Given the description of an element on the screen output the (x, y) to click on. 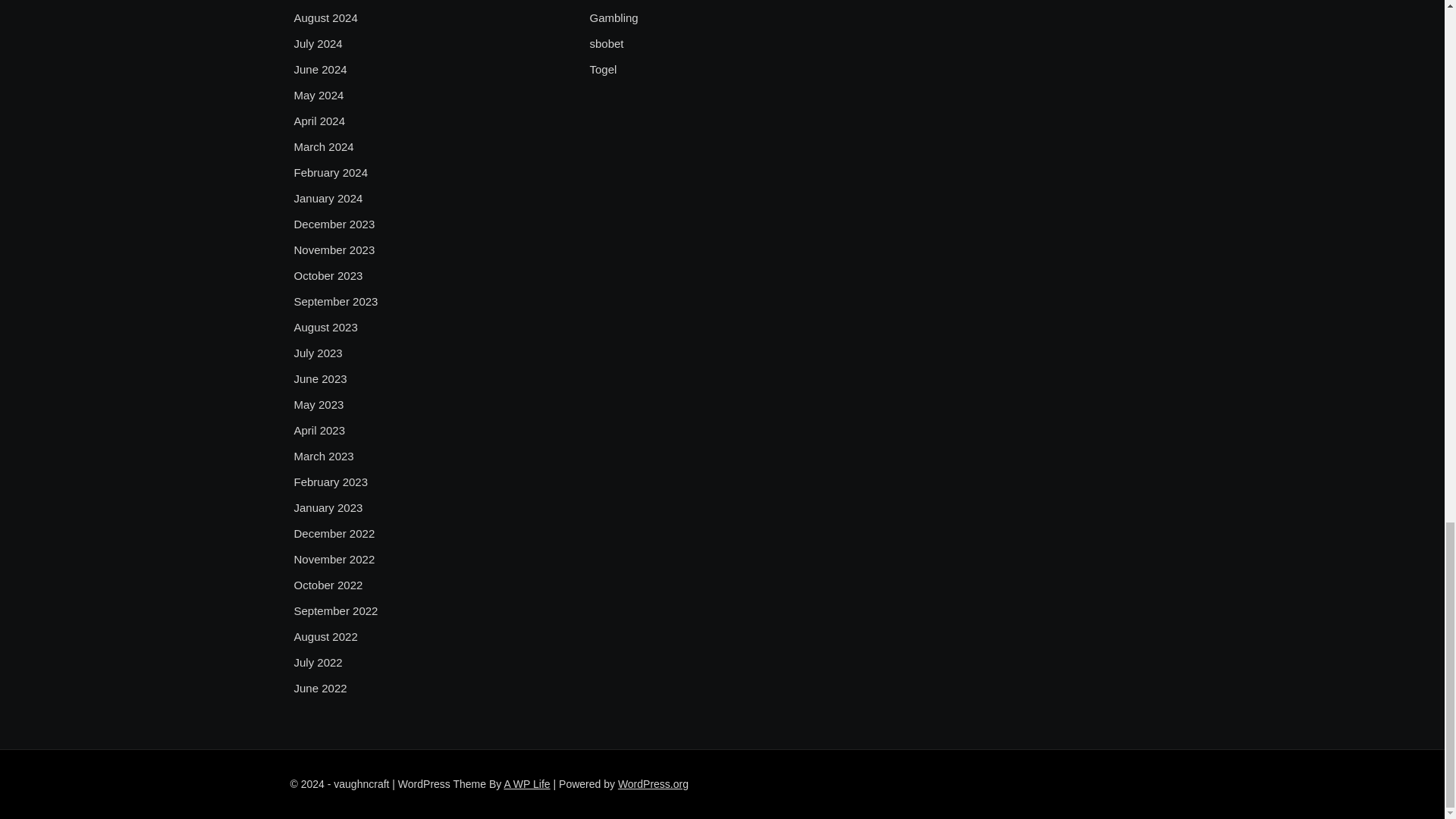
March 2024 (323, 147)
January 2023 (328, 507)
November 2023 (334, 249)
January 2024 (328, 198)
September 2023 (336, 301)
February 2023 (331, 482)
July 2024 (318, 44)
October 2023 (328, 275)
June 2024 (320, 69)
April 2023 (320, 430)
